Given the description of an element on the screen output the (x, y) to click on. 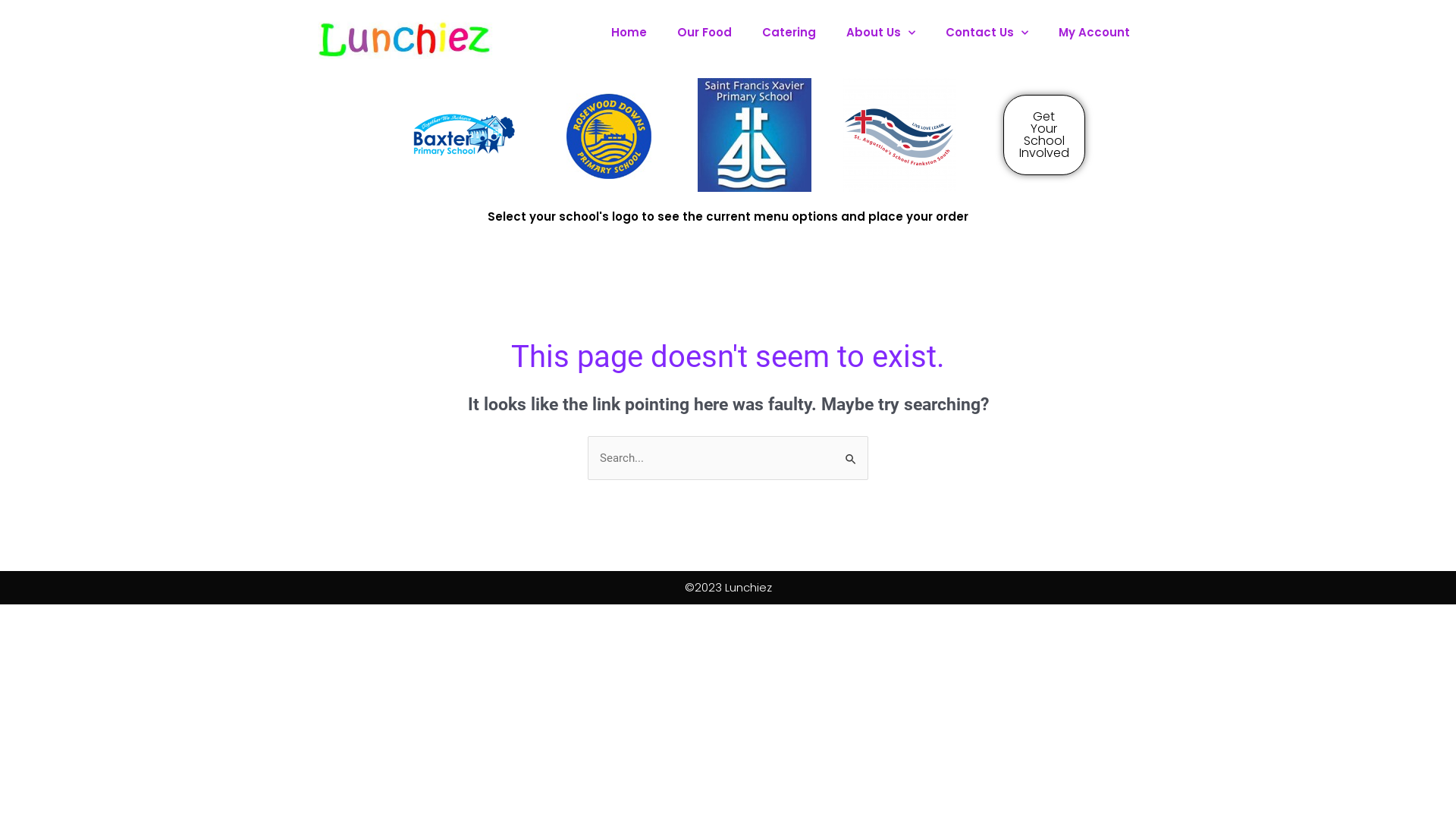
Catering Element type: text (788, 32)
Our Food Element type: text (704, 32)
Contact Us Element type: text (986, 32)
About Us Element type: text (880, 32)
Home Element type: text (629, 32)
My Account Element type: text (1094, 32)
Search Element type: text (851, 451)
Get
Your School
Involved Element type: text (1044, 134)
